Given the description of an element on the screen output the (x, y) to click on. 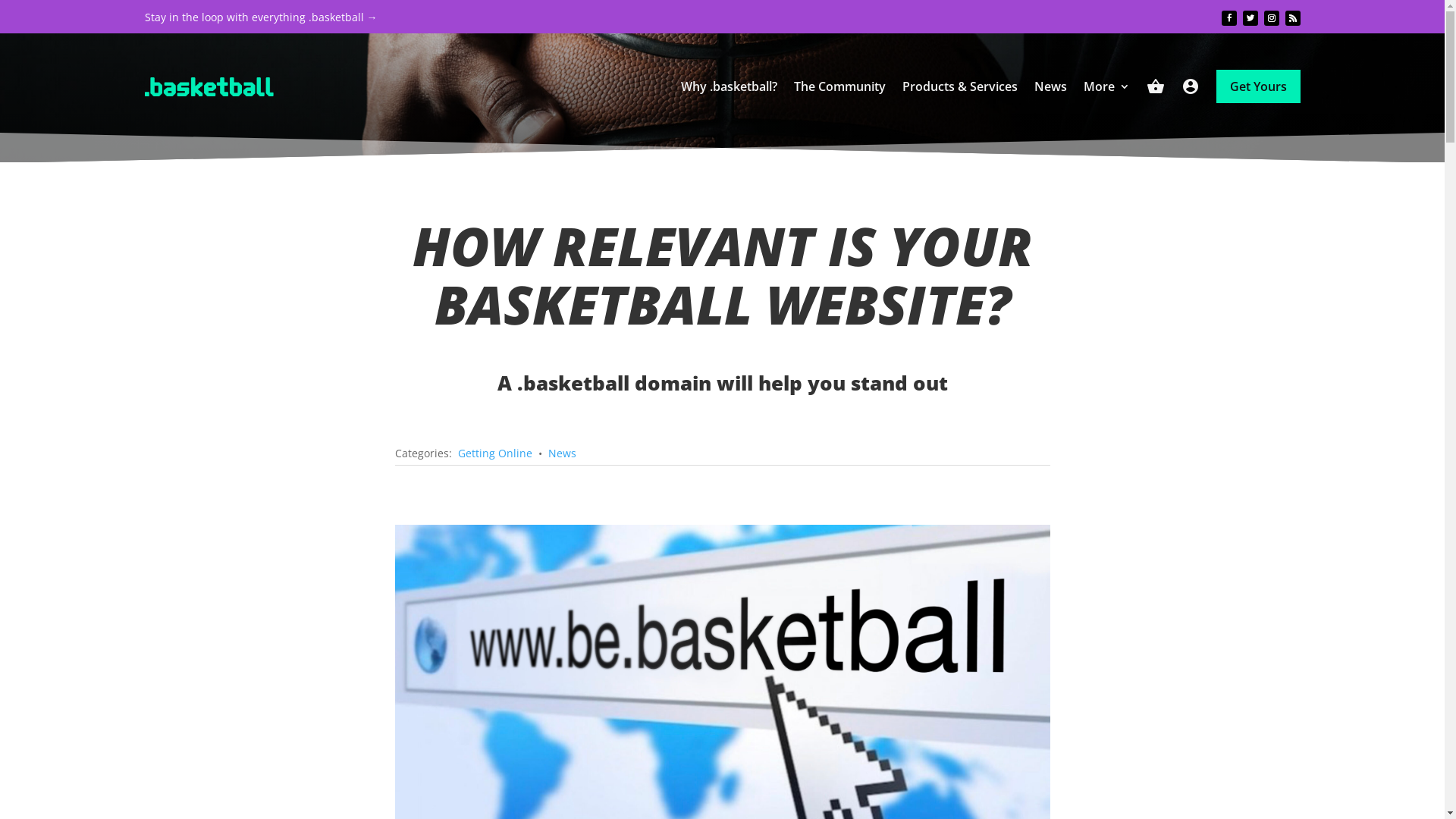
News Element type: text (1050, 86)
Get Yours Element type: text (1258, 86)
The Community Element type: text (838, 86)
Follow on Twitter Element type: hover (1249, 17)
News Element type: text (561, 452)
More Element type: text (1105, 86)
Follow on RSS Element type: hover (1291, 17)
Why .basketball? Element type: text (728, 86)
Getting Online Element type: text (495, 452)
shopping_basket Element type: text (1155, 86)
Follow on Facebook Element type: hover (1228, 17)
Follow on Instagram Element type: hover (1270, 17)
account_circle Element type: text (1190, 86)
Products & Services Element type: text (959, 86)
